Given the description of an element on the screen output the (x, y) to click on. 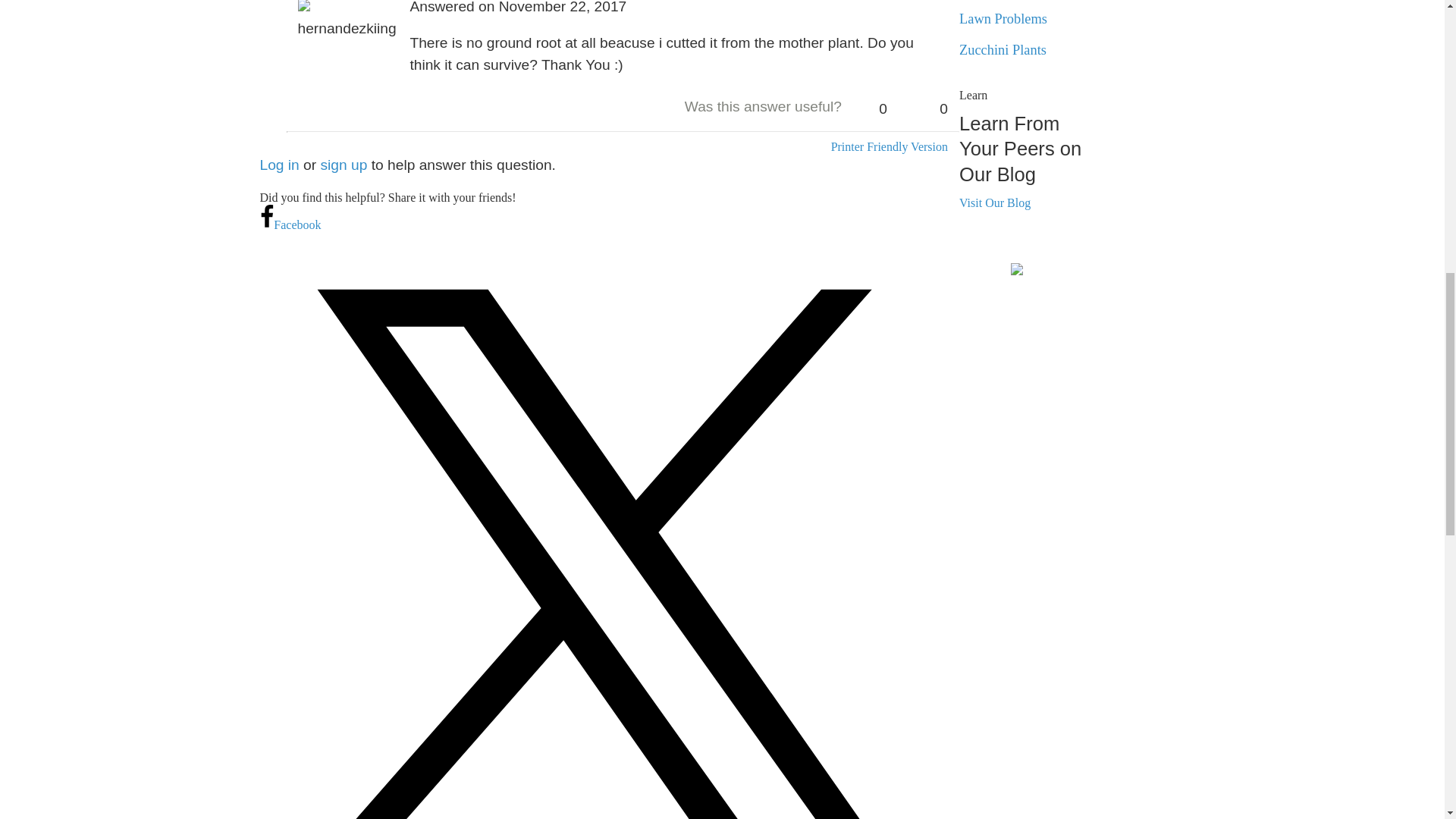
Log in (278, 164)
Facebook (289, 224)
sign up (344, 164)
Share on Facebook (289, 224)
Printer Friendly Version (889, 146)
Printer Friendly Version (889, 146)
